Given the description of an element on the screen output the (x, y) to click on. 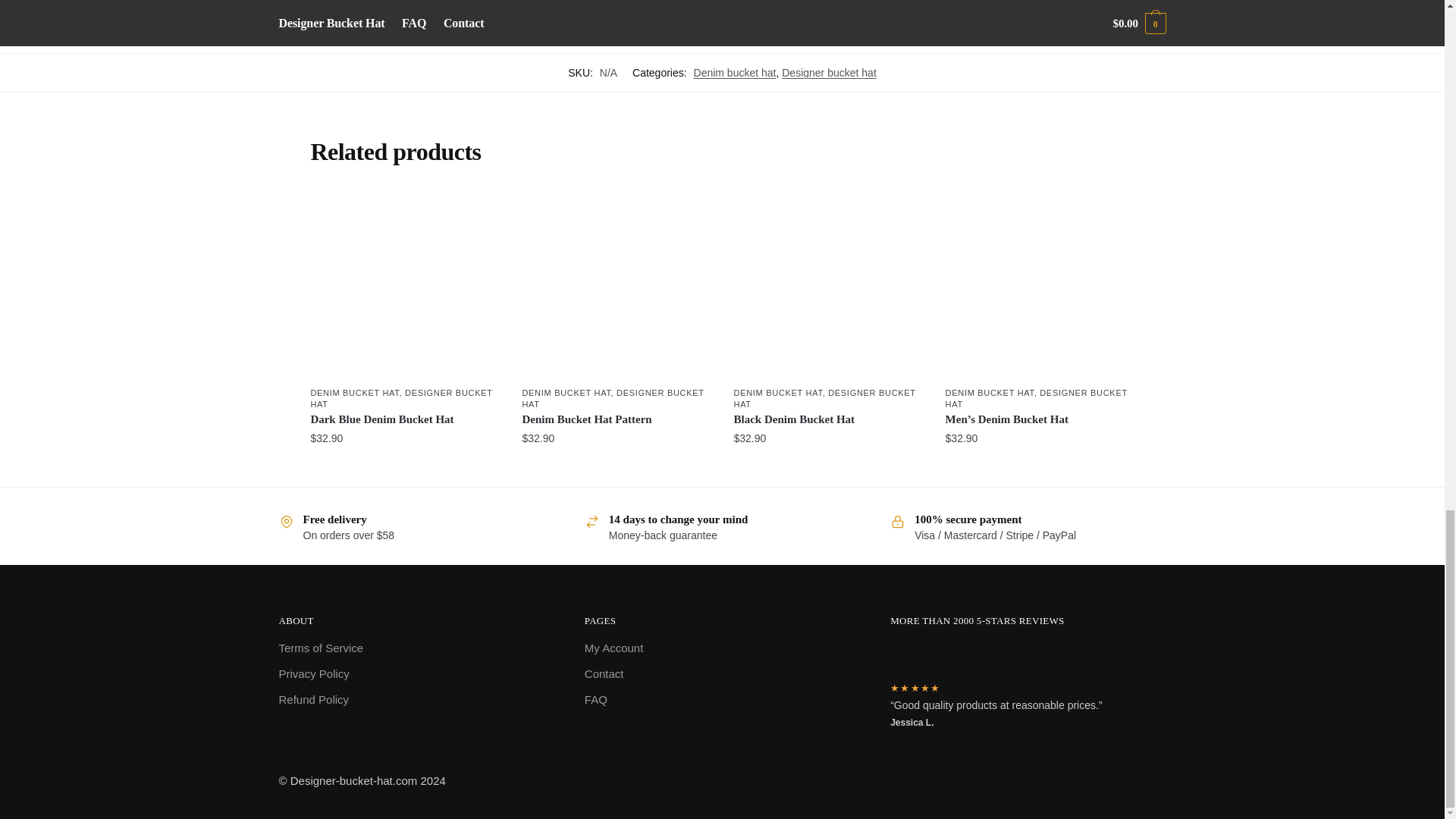
DENIM BUCKET HAT (354, 392)
Denim Bucket Hat Pattern (615, 285)
Dark Blue Denim Bucket Hat (404, 285)
DESIGNER BUCKET HAT (612, 397)
DENIM BUCKET HAT (565, 392)
DESIGNER BUCKET HAT (401, 397)
Denim bucket hat (353, 1)
Denim bucket hat (735, 72)
Designer bucket hat (828, 72)
Black Denim Bucket Hat (828, 285)
Dark Blue Denim Bucket Hat (404, 419)
